Given the description of an element on the screen output the (x, y) to click on. 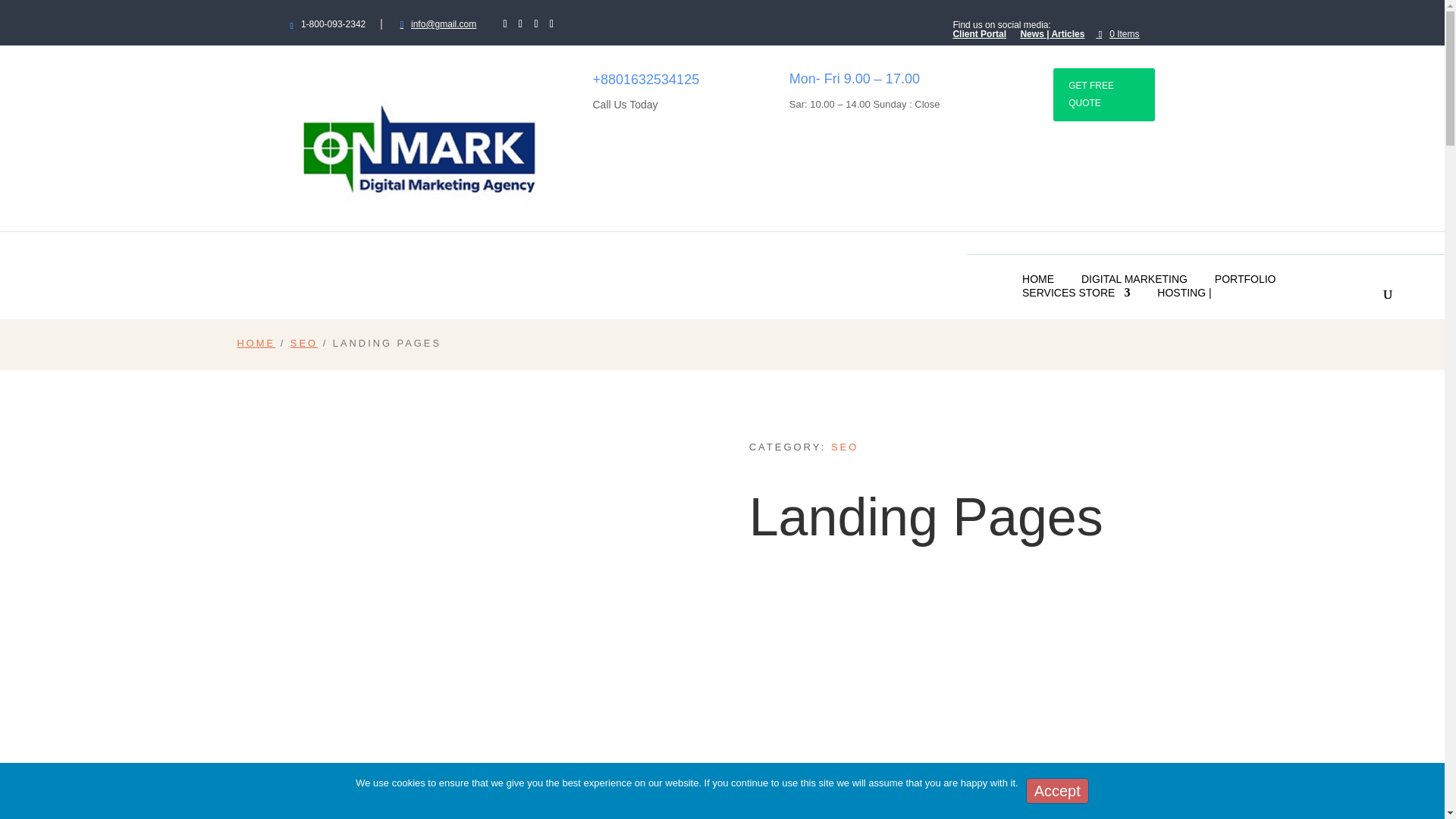
HOME (1038, 278)
Client Portal (979, 37)
PORTFOLIO (1245, 278)
HOME (255, 342)
GET FREE QUOTE (1103, 94)
SERVICES STORE (1075, 292)
SEO (303, 342)
SEO (845, 446)
0 Items (1125, 33)
DIGITAL MARKETING (1134, 278)
